Given the description of an element on the screen output the (x, y) to click on. 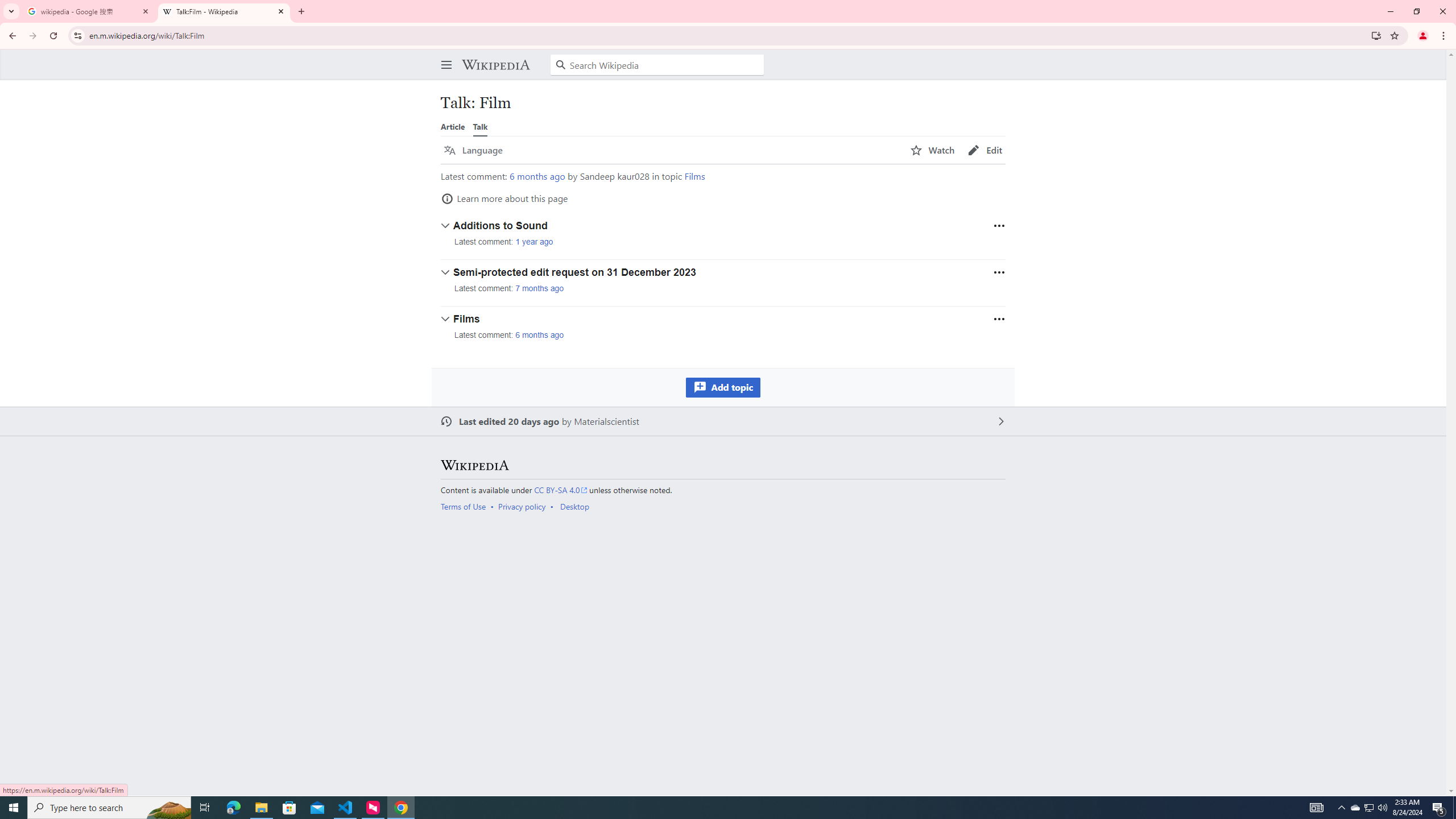
Privacy policy (521, 505)
Language (472, 149)
Search Wikipedia (657, 64)
AutomationID: footer-places-terms-use (466, 506)
AutomationID: page-actions-watch (932, 150)
CC BY-SA 4.0 (561, 490)
AutomationID: footer-places-desktop-toggle (576, 506)
Watch (932, 149)
